Given the description of an element on the screen output the (x, y) to click on. 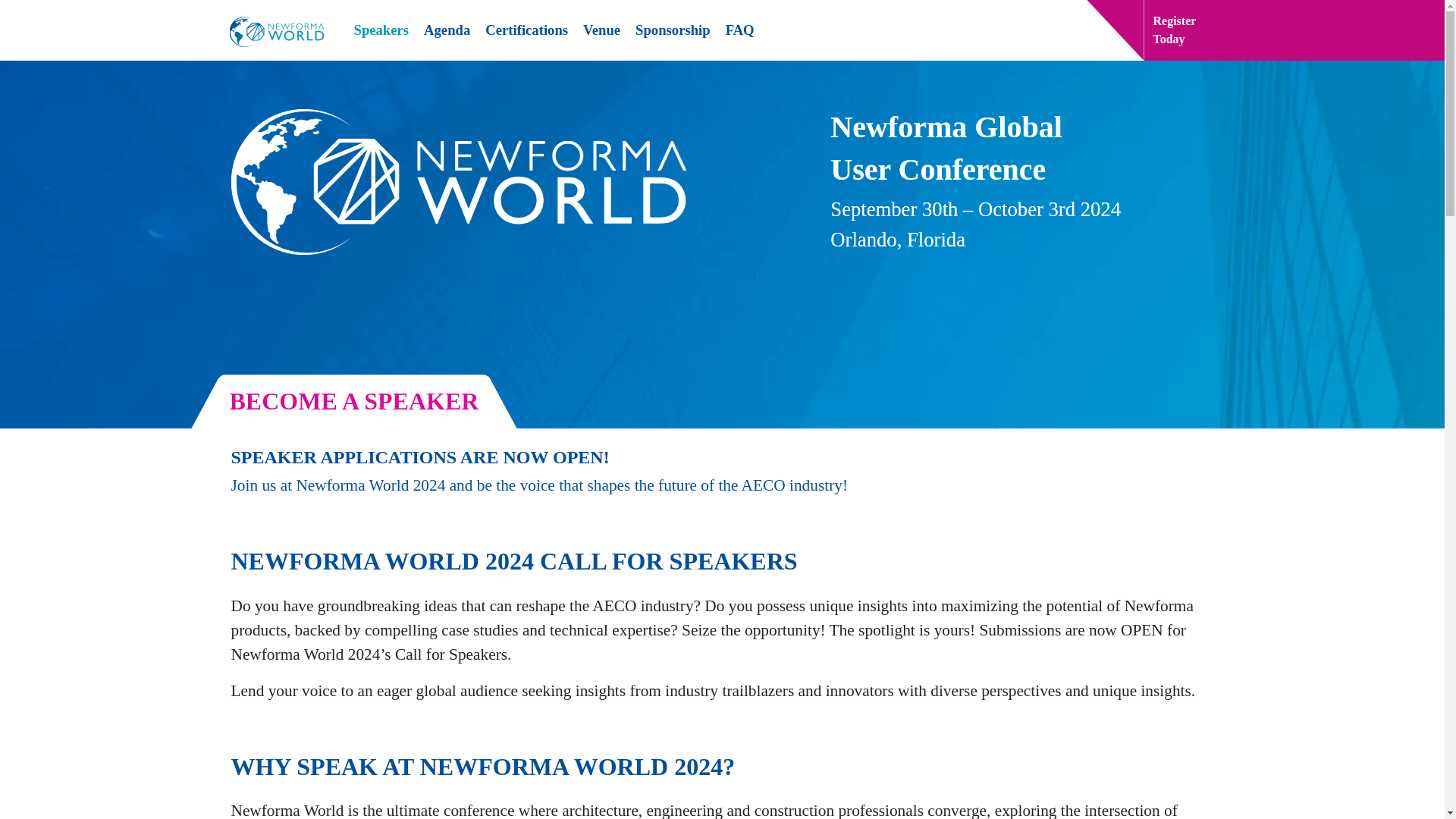
FAQ (739, 30)
Agenda (446, 30)
Certifications (526, 30)
Venue (1309, 30)
Sponsorship (601, 30)
Speakers (672, 30)
